Given the description of an element on the screen output the (x, y) to click on. 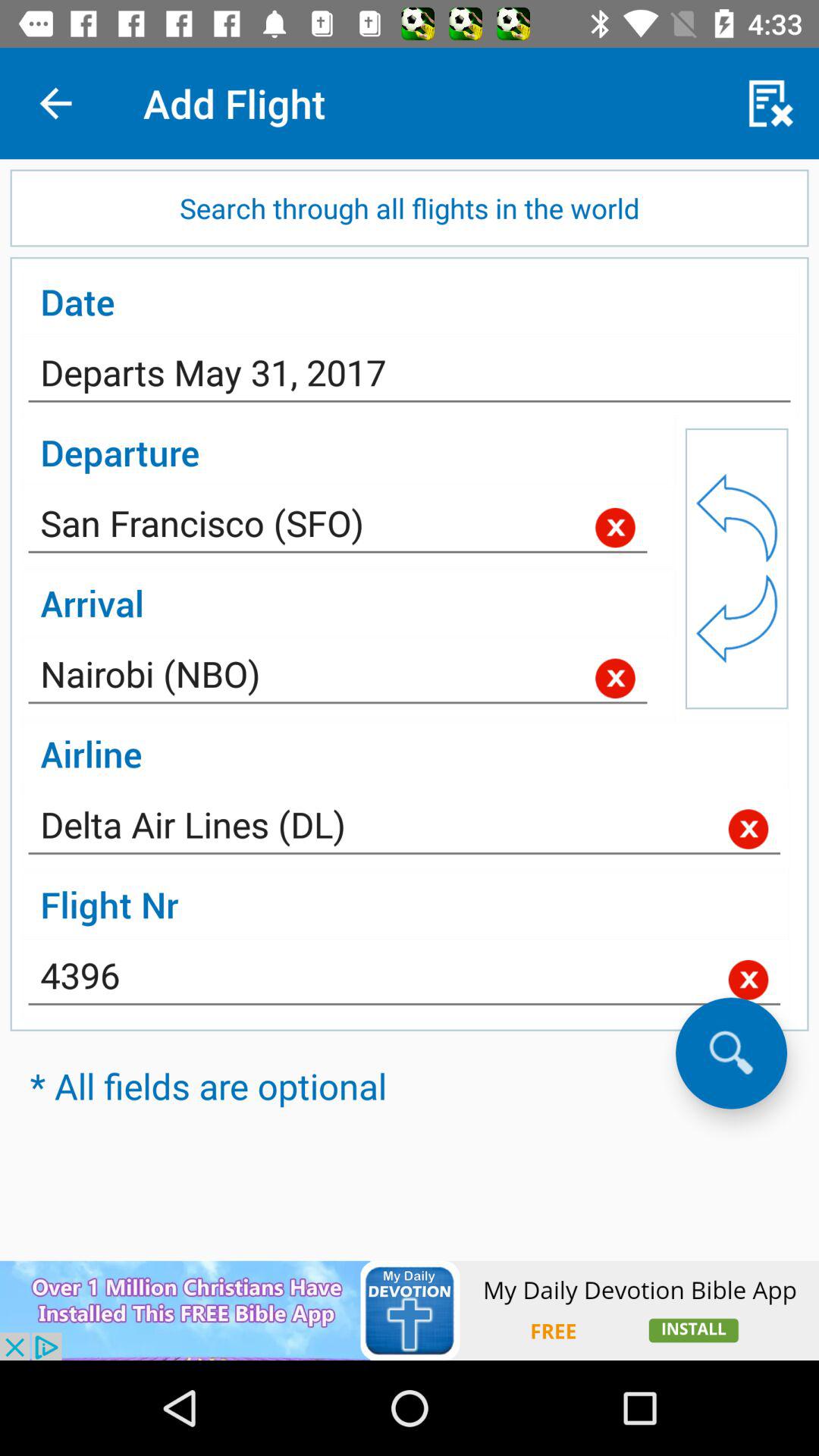
interact with advertisement (409, 1310)
